Given the description of an element on the screen output the (x, y) to click on. 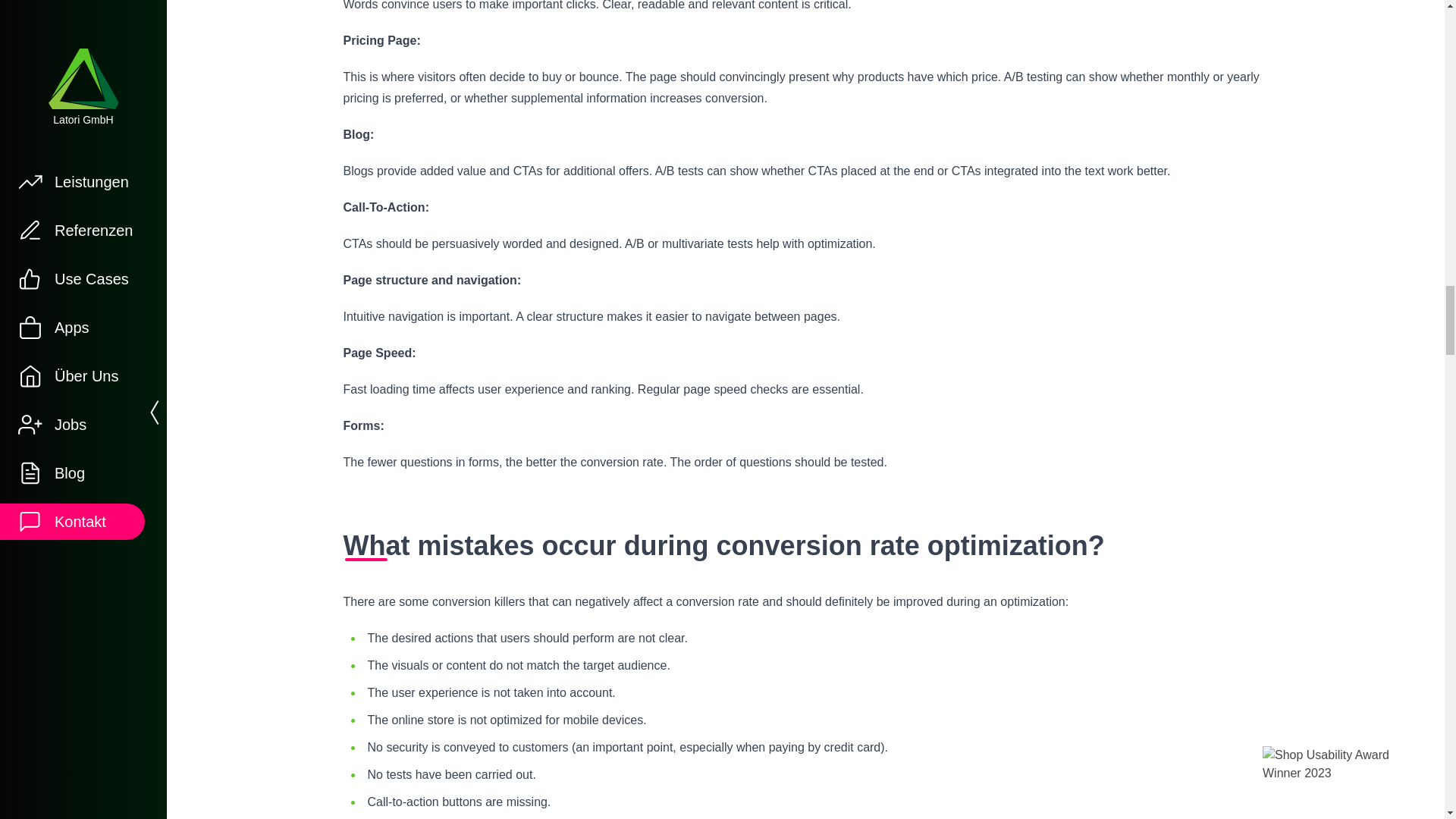
What mistakes occur during conversion rate optimization? (805, 545)
